Given the description of an element on the screen output the (x, y) to click on. 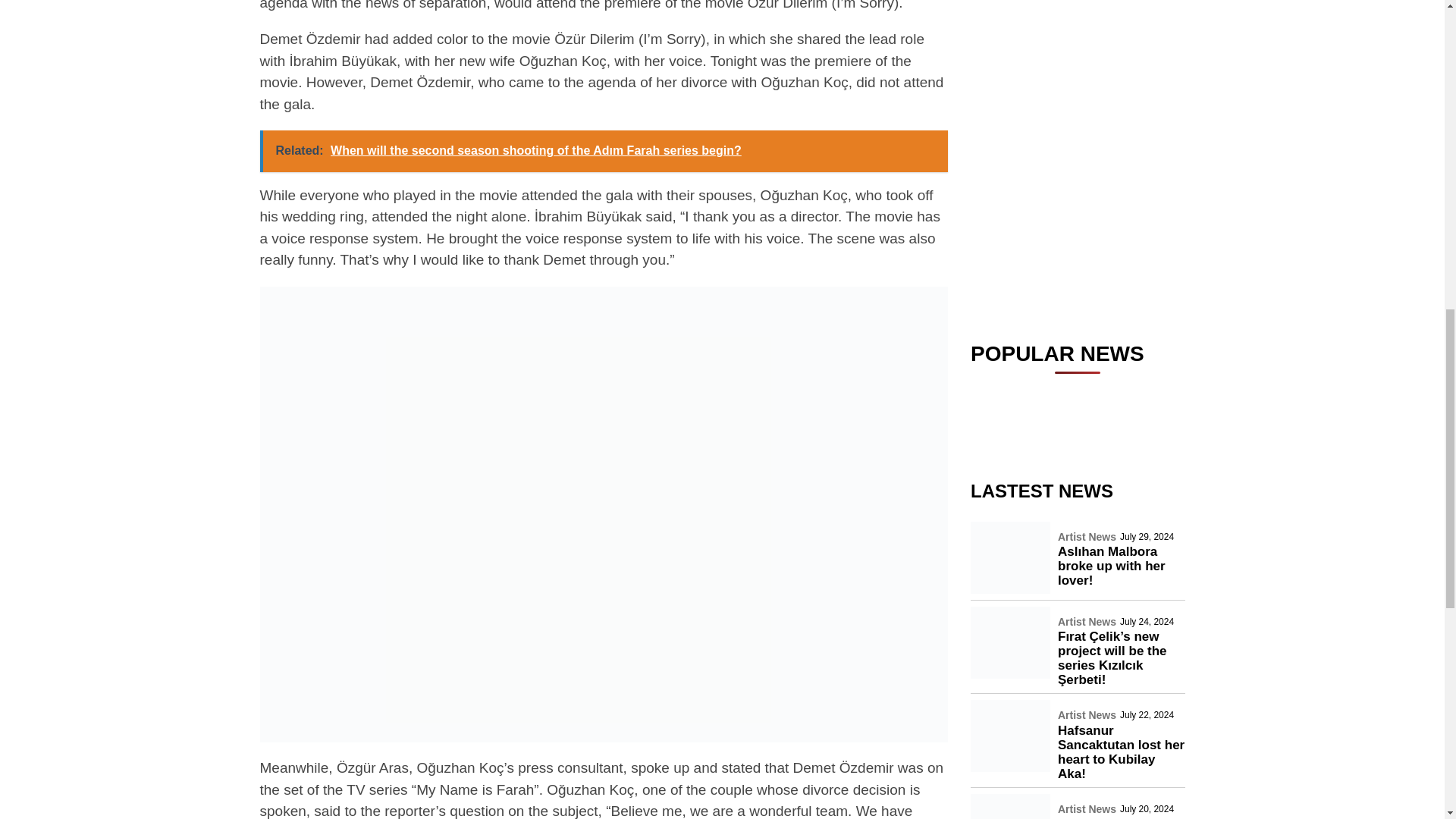
Artist News (1087, 18)
Artist News (1087, 112)
Hafsanur Sancaktutan lost her heart to Kubilay Aka! (1121, 149)
